Given the description of an element on the screen output the (x, y) to click on. 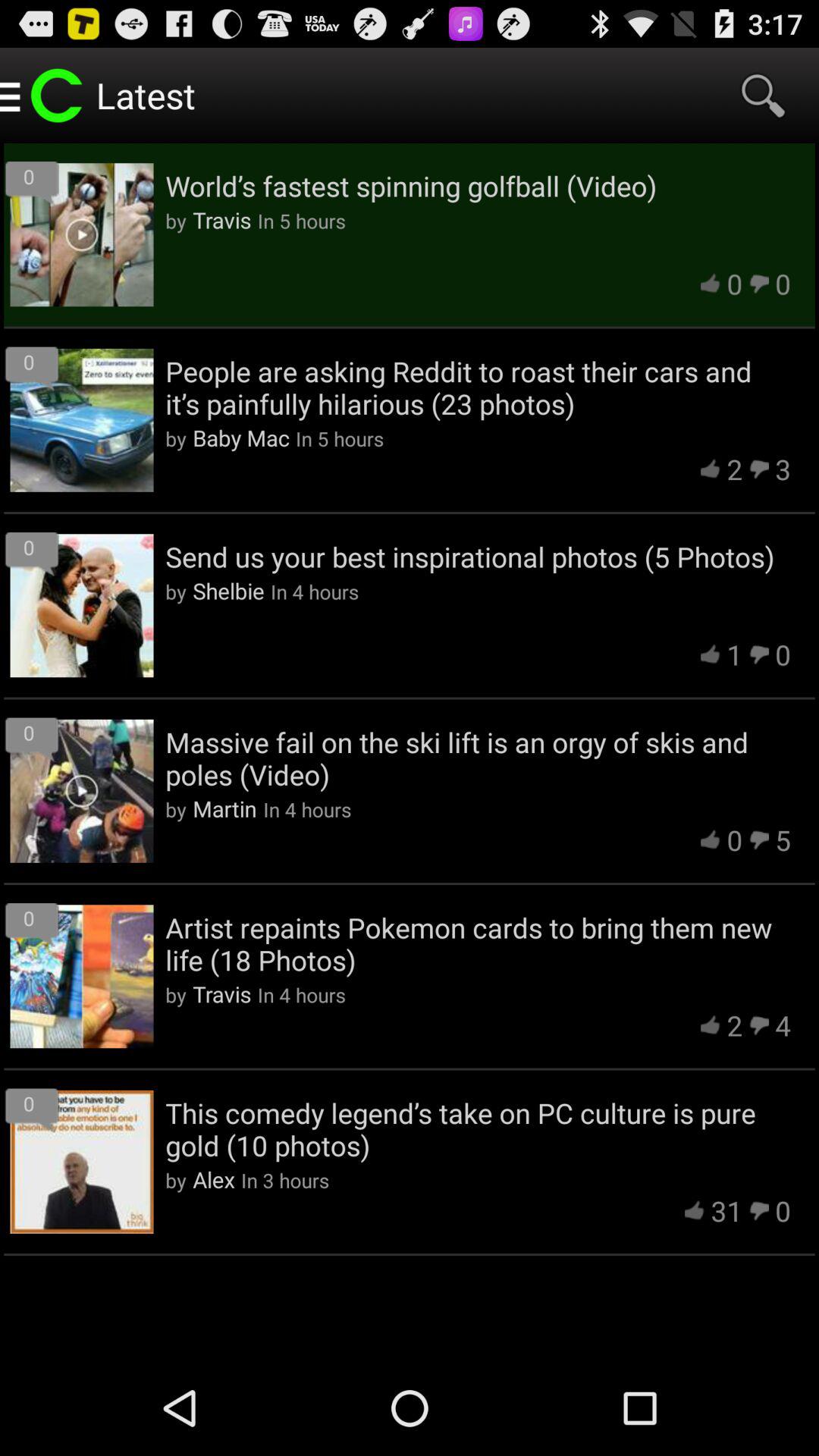
turn off the artist repaints pokemon item (478, 943)
